Given the description of an element on the screen output the (x, y) to click on. 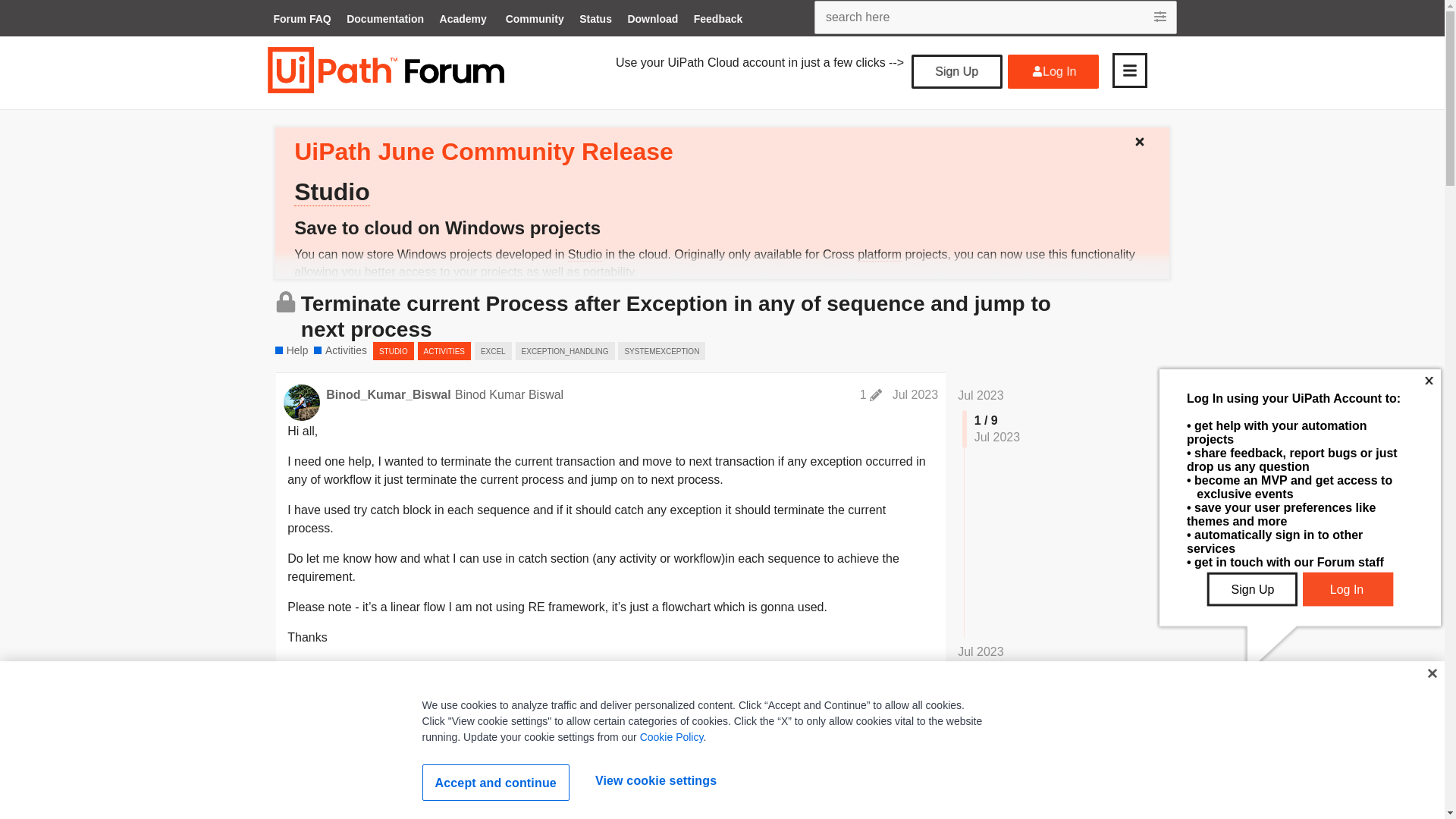
Open advanced search (1161, 17)
Forum FAQ (301, 20)
Academy (463, 20)
Dismiss this banner (1145, 137)
menu (1129, 69)
Documentation (384, 20)
